Given the description of an element on the screen output the (x, y) to click on. 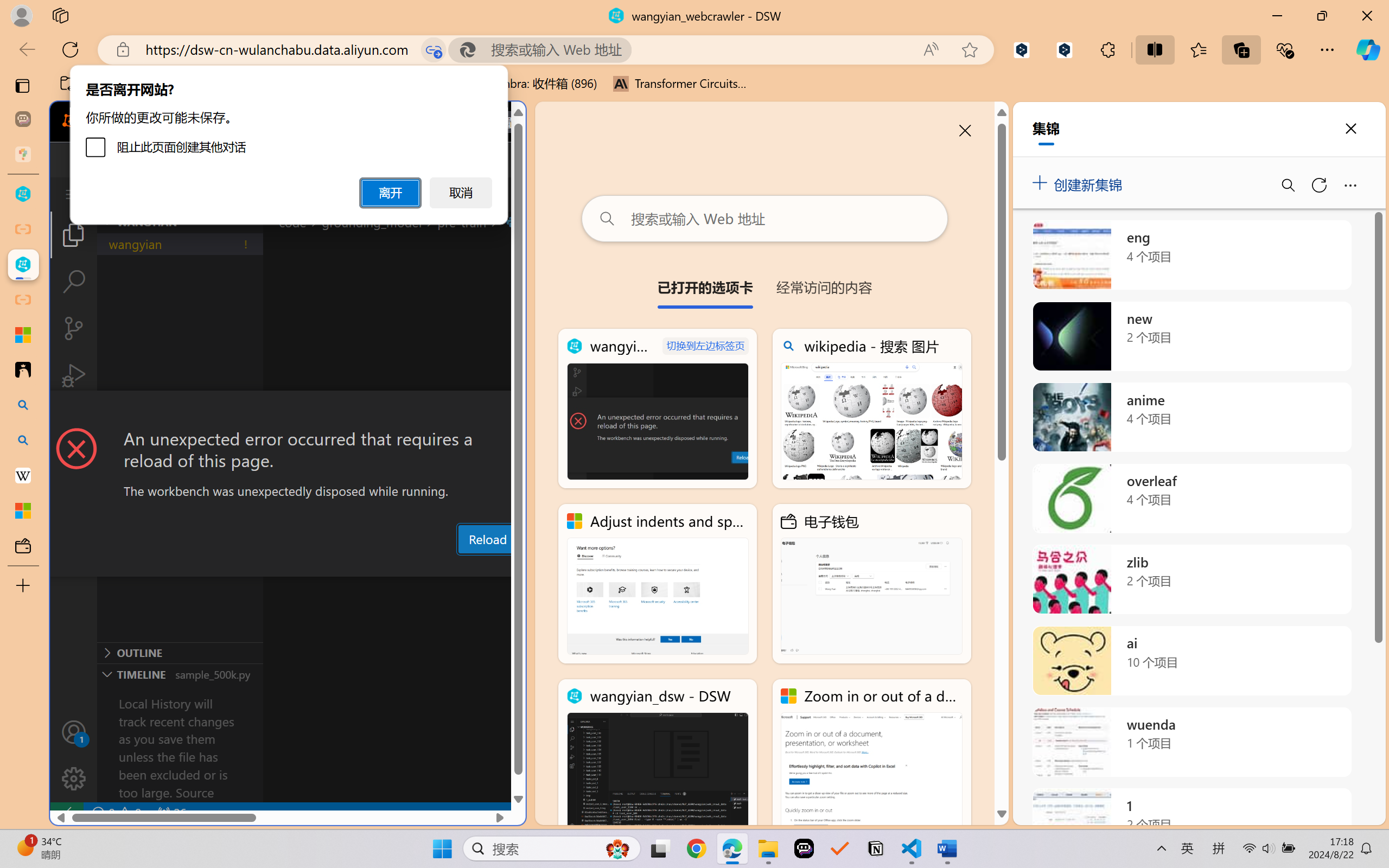
Adjust indents and spacing - Microsoft Support (657, 583)
Manage (73, 755)
Close Dialog (520, 410)
Copilot (Ctrl+Shift+.) (1368, 49)
